Given the description of an element on the screen output the (x, y) to click on. 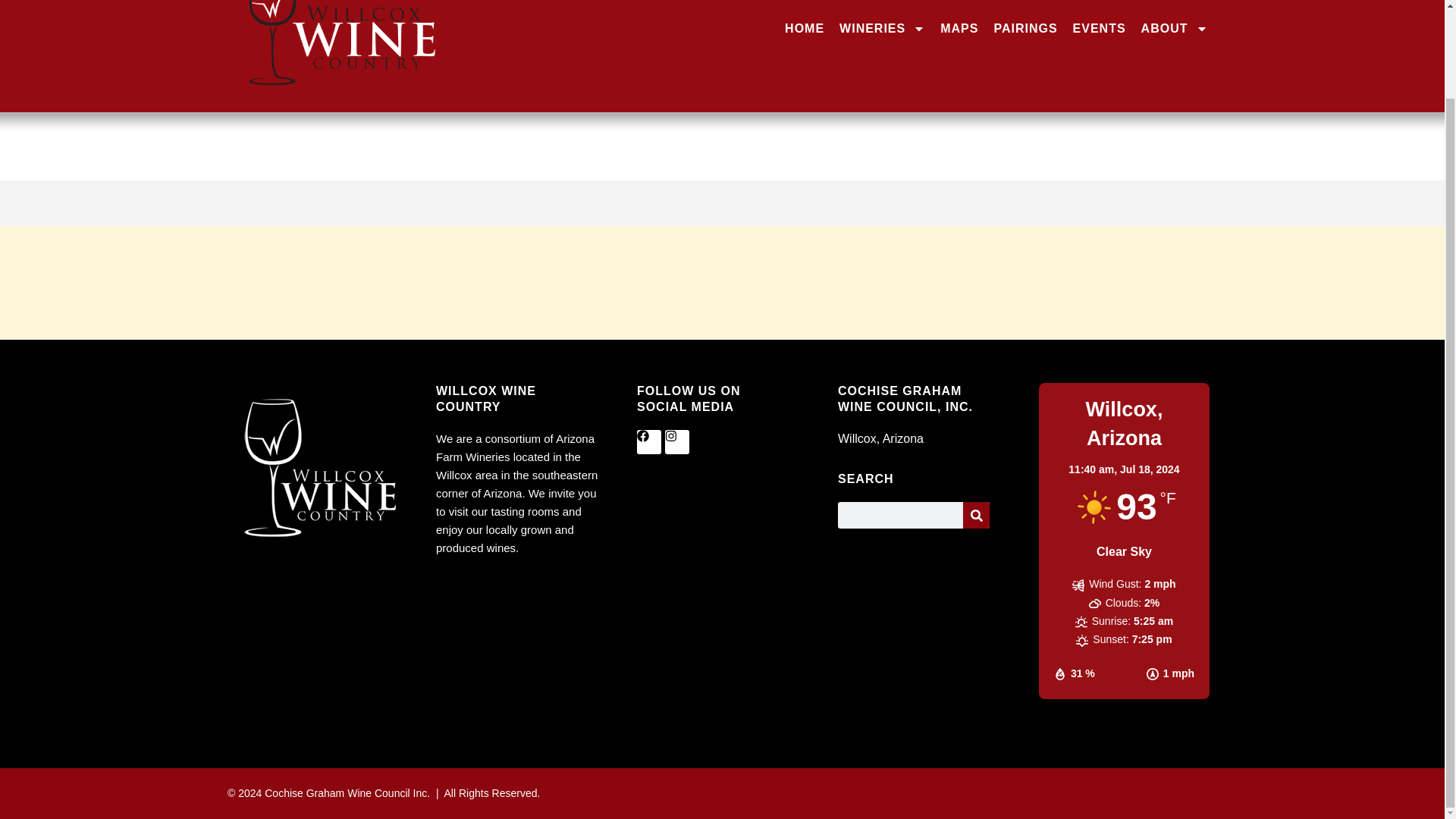
EVENTS (1099, 28)
MAPS (959, 28)
WINERIES (882, 28)
HOME (804, 28)
PAIRINGS (1024, 28)
ABOUT (1174, 28)
